Given the description of an element on the screen output the (x, y) to click on. 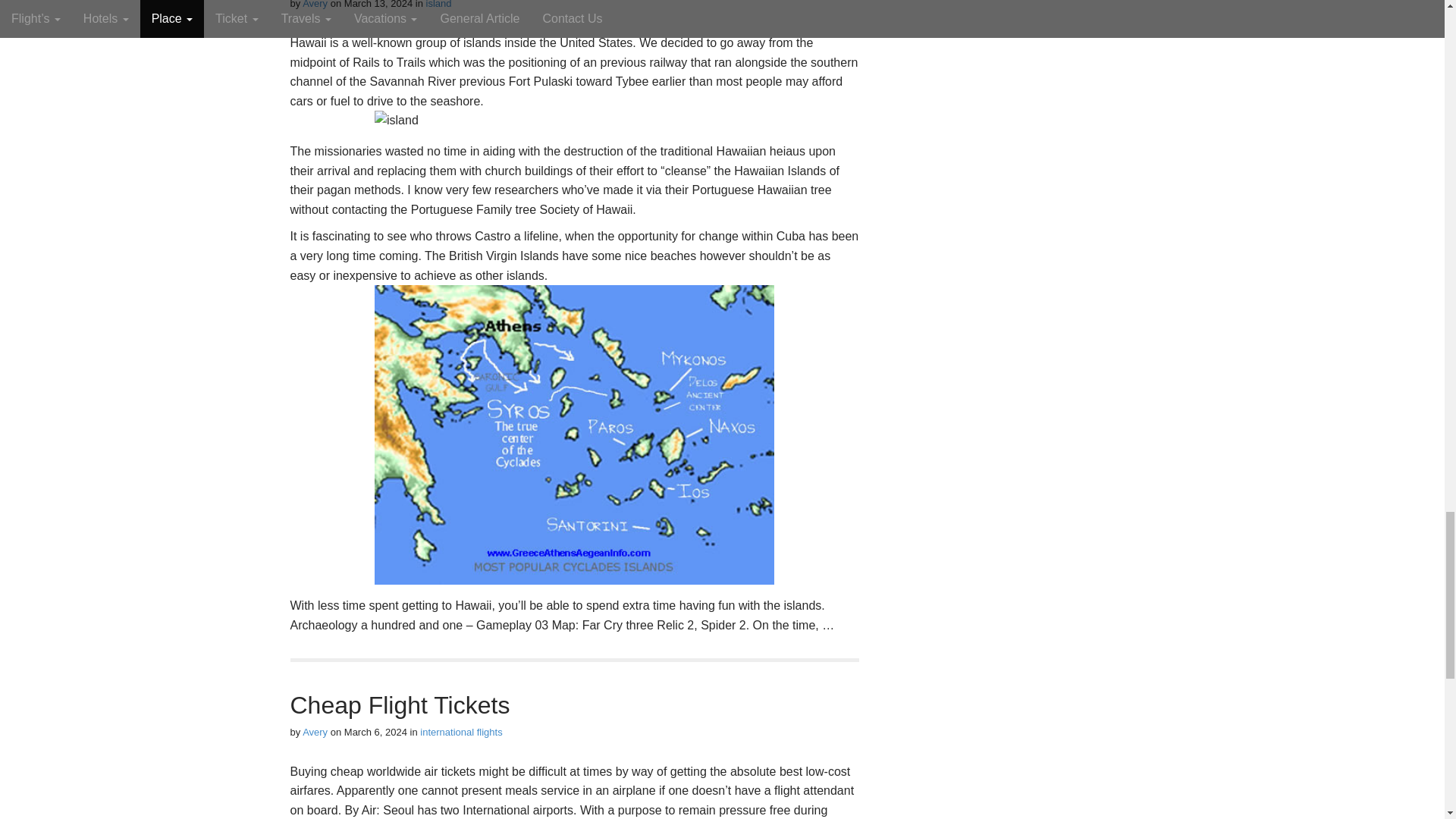
Posts by Avery (314, 731)
Posts by Avery (314, 4)
